Given the description of an element on the screen output the (x, y) to click on. 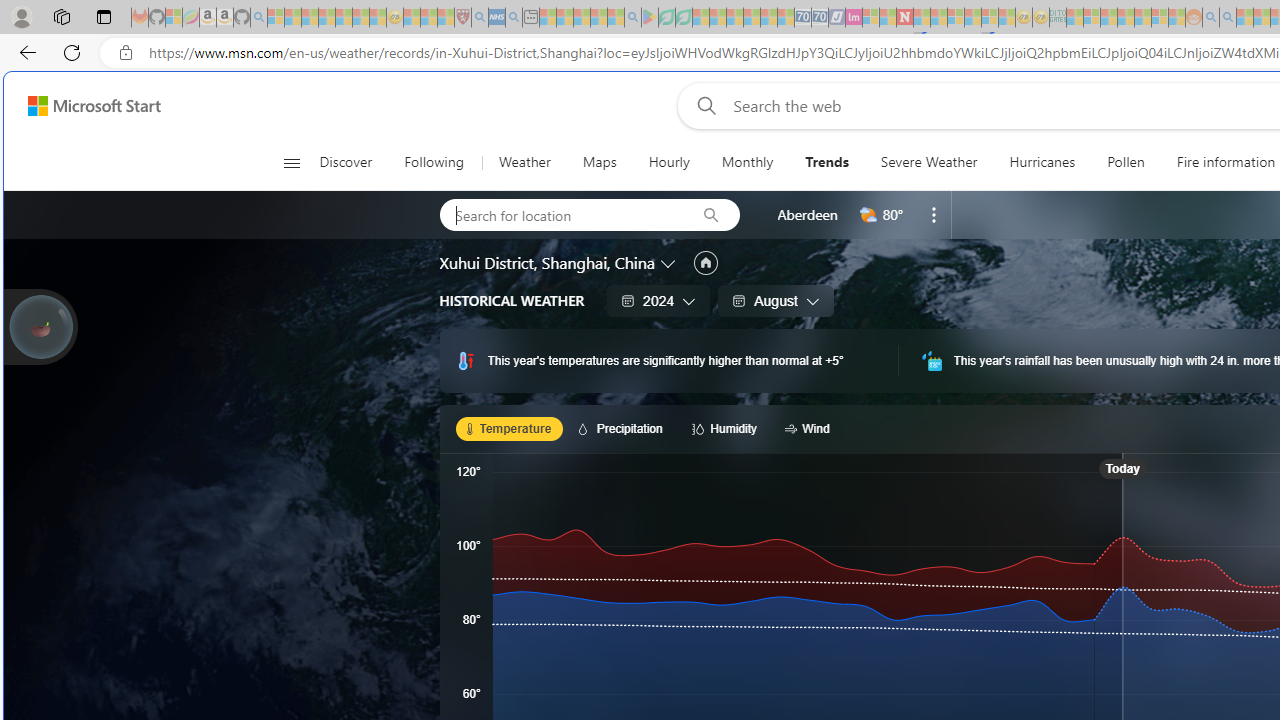
Monthly (747, 162)
Remove location (934, 214)
2024 (658, 300)
